Given the description of an element on the screen output the (x, y) to click on. 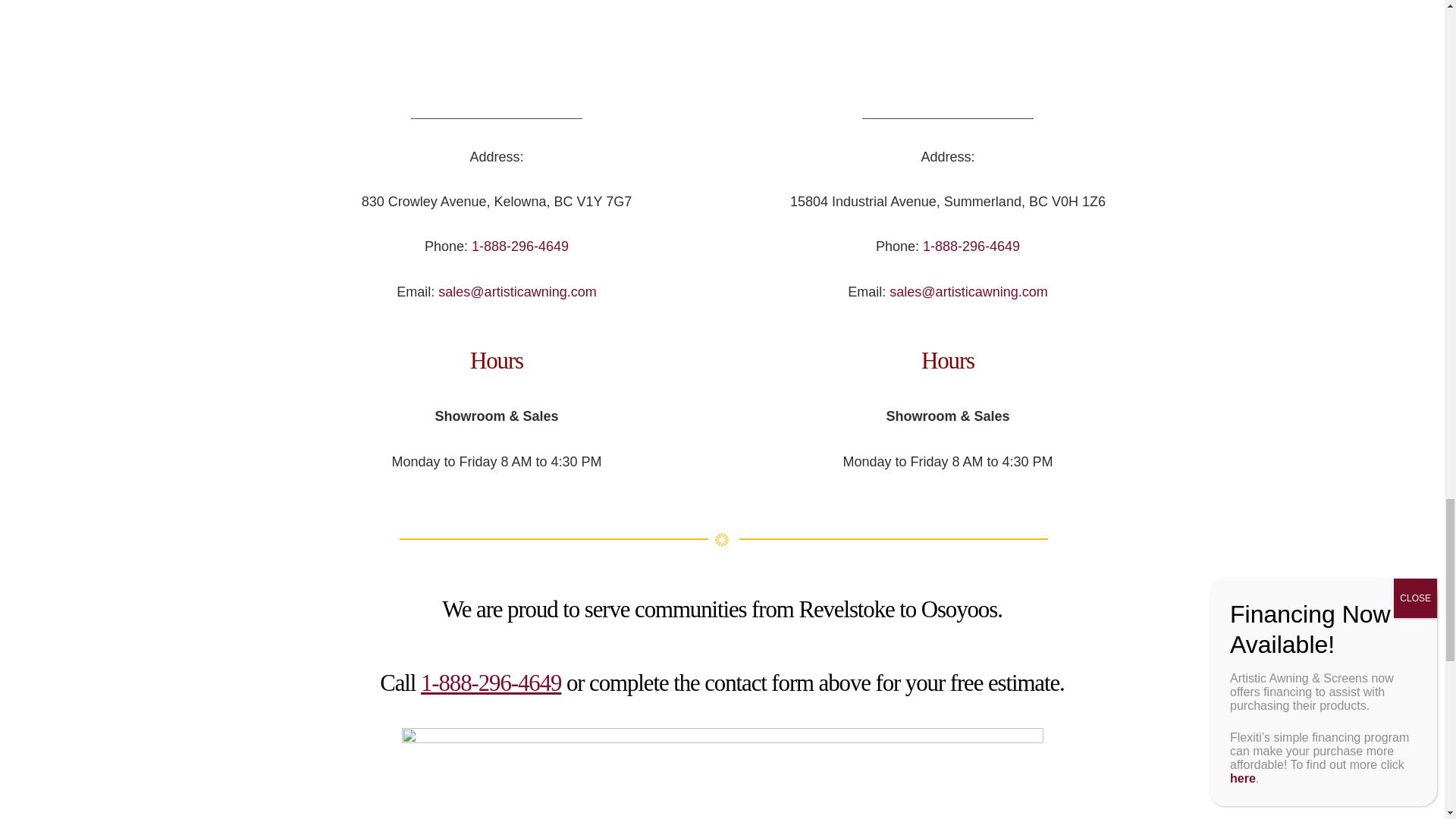
line (721, 539)
